Given the description of an element on the screen output the (x, y) to click on. 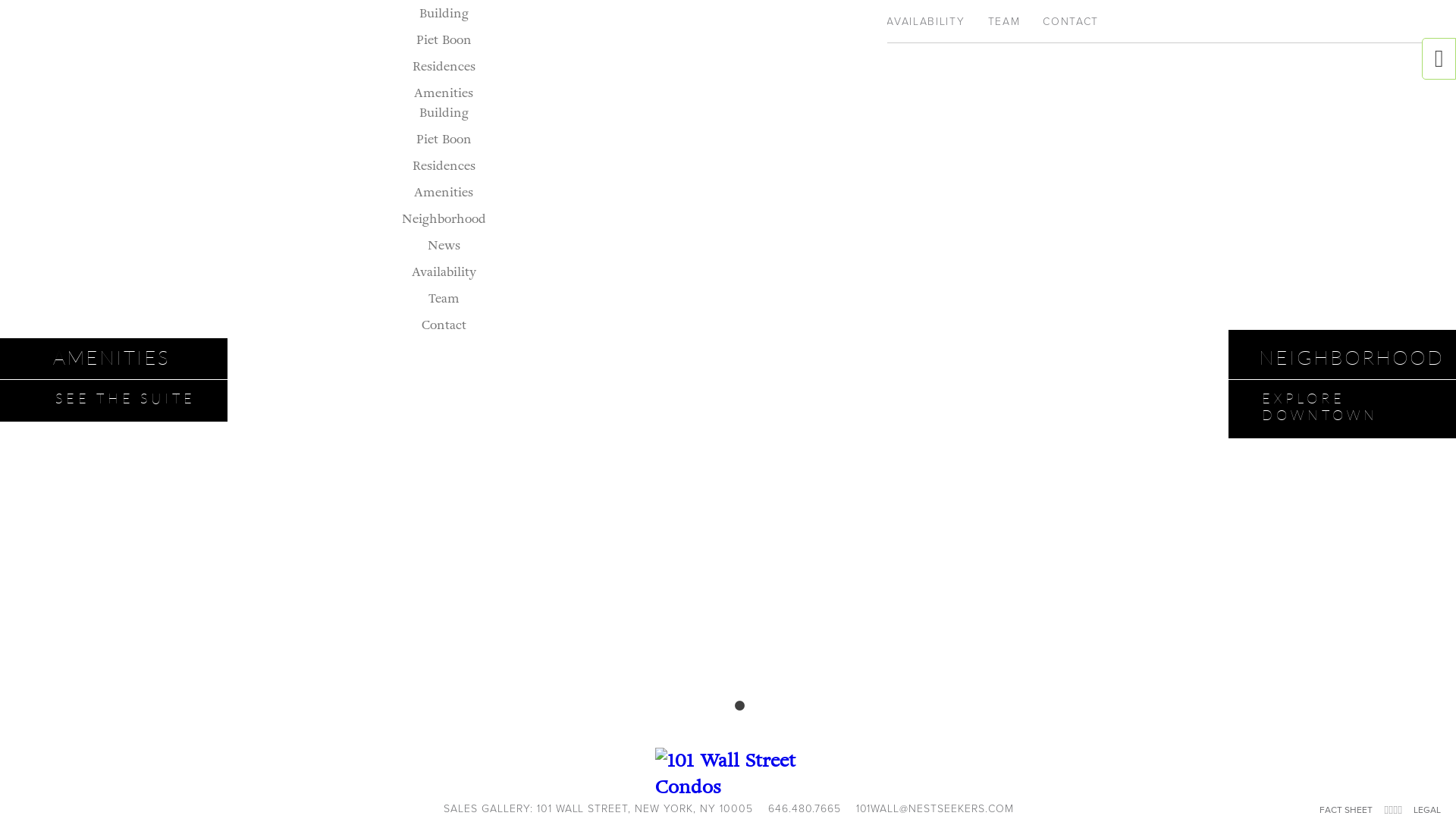
Availability Element type: text (443, 172)
TEAM Element type: text (1004, 23)
Neighborhood Element type: text (443, 119)
101WALL@NESTSEEKERS.COM Element type: text (935, 808)
Availability Element type: text (443, 271)
NEIGHBORHOOD Element type: text (756, 23)
Team Element type: text (442, 198)
Residences Element type: text (443, 165)
Neighborhood Element type: text (443, 218)
2 Element type: text (738, 705)
NEWS Element type: text (847, 23)
News Element type: text (443, 145)
Amenities Element type: text (443, 191)
Building Element type: text (442, 12)
Contact Element type: text (443, 225)
CONTACT Element type: text (1070, 23)
Piet Boon Element type: text (442, 39)
AMENITIES Element type: text (652, 23)
LEGAL Element type: text (1426, 809)
Team Element type: text (442, 298)
Residences Element type: text (443, 66)
AVAILABILITY Element type: text (925, 23)
Building Element type: text (442, 112)
BUILDING Element type: text (385, 23)
PIET BOON Element type: text (469, 23)
Contact Element type: text (443, 324)
Piet Boon Element type: text (442, 138)
FACT SHEET Element type: text (1345, 809)
1 Element type: text (716, 705)
News Element type: text (443, 245)
RESIDENCES Element type: text (562, 23)
Amenities Element type: text (443, 92)
